Given the description of an element on the screen output the (x, y) to click on. 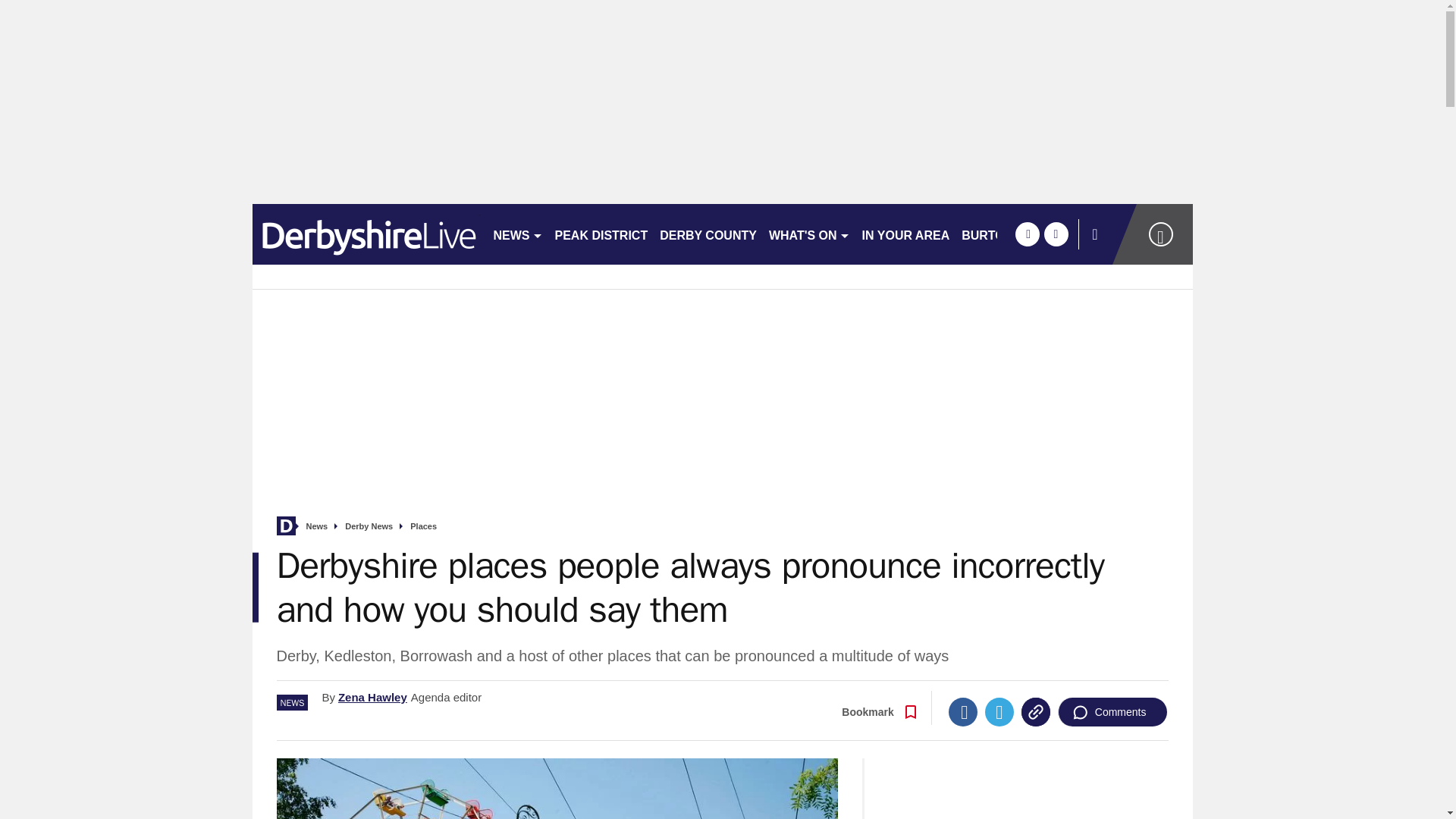
twitter (1055, 233)
WHAT'S ON (809, 233)
derbytelegraph (365, 233)
IN YOUR AREA (906, 233)
PEAK DISTRICT (600, 233)
DERBY COUNTY (707, 233)
Comments (1112, 711)
Facebook (962, 711)
facebook (1026, 233)
BURTONLIVE (1000, 233)
NEWS (517, 233)
Twitter (999, 711)
